Given the description of an element on the screen output the (x, y) to click on. 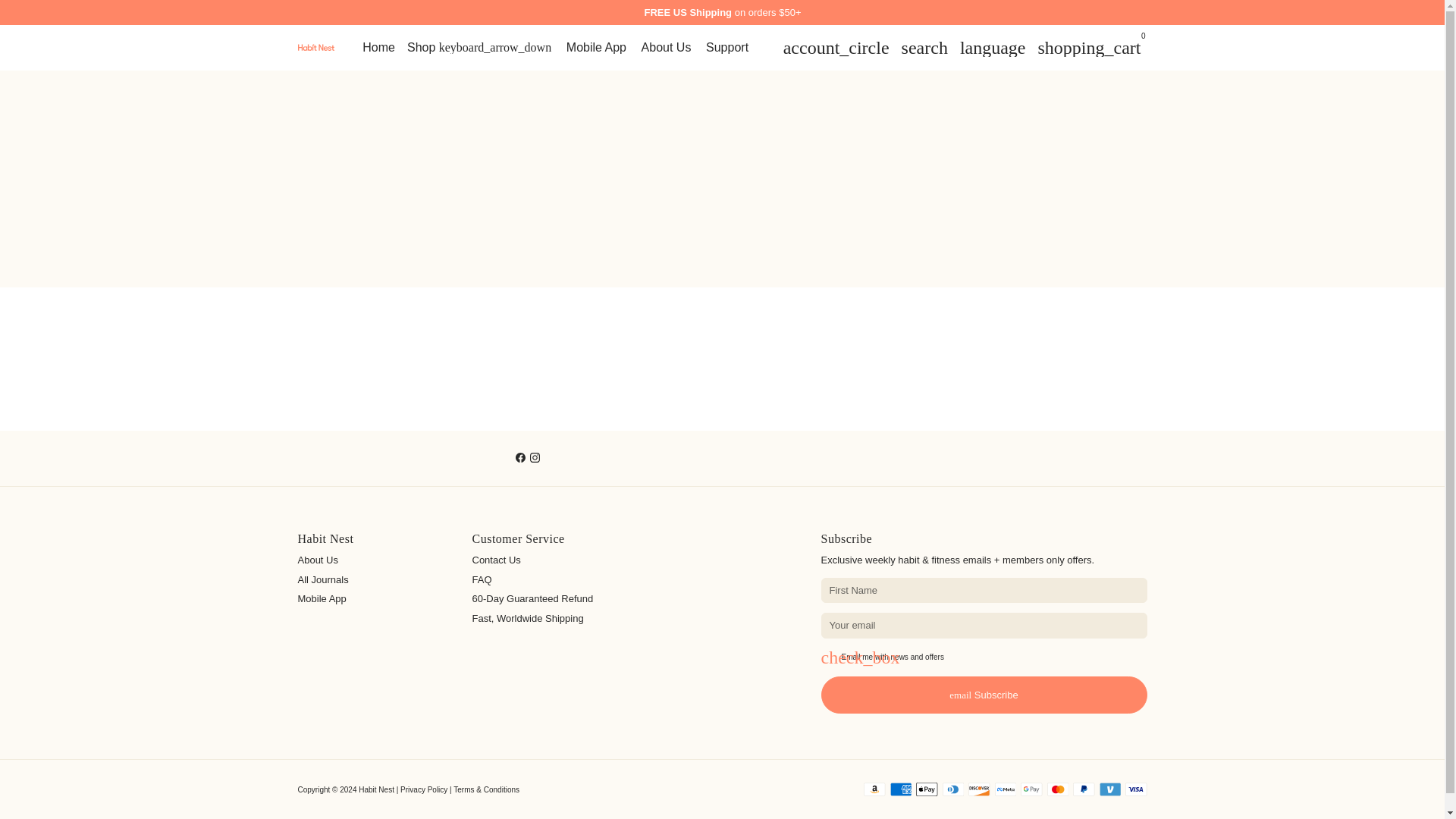
Cart (1089, 46)
Habit Nest on Facebook (520, 457)
About Us (665, 46)
Support (727, 46)
Habit Nest on Instagram (534, 457)
Mobile App (595, 46)
search (924, 46)
Home (378, 46)
Search (924, 46)
